Given the description of an element on the screen output the (x, y) to click on. 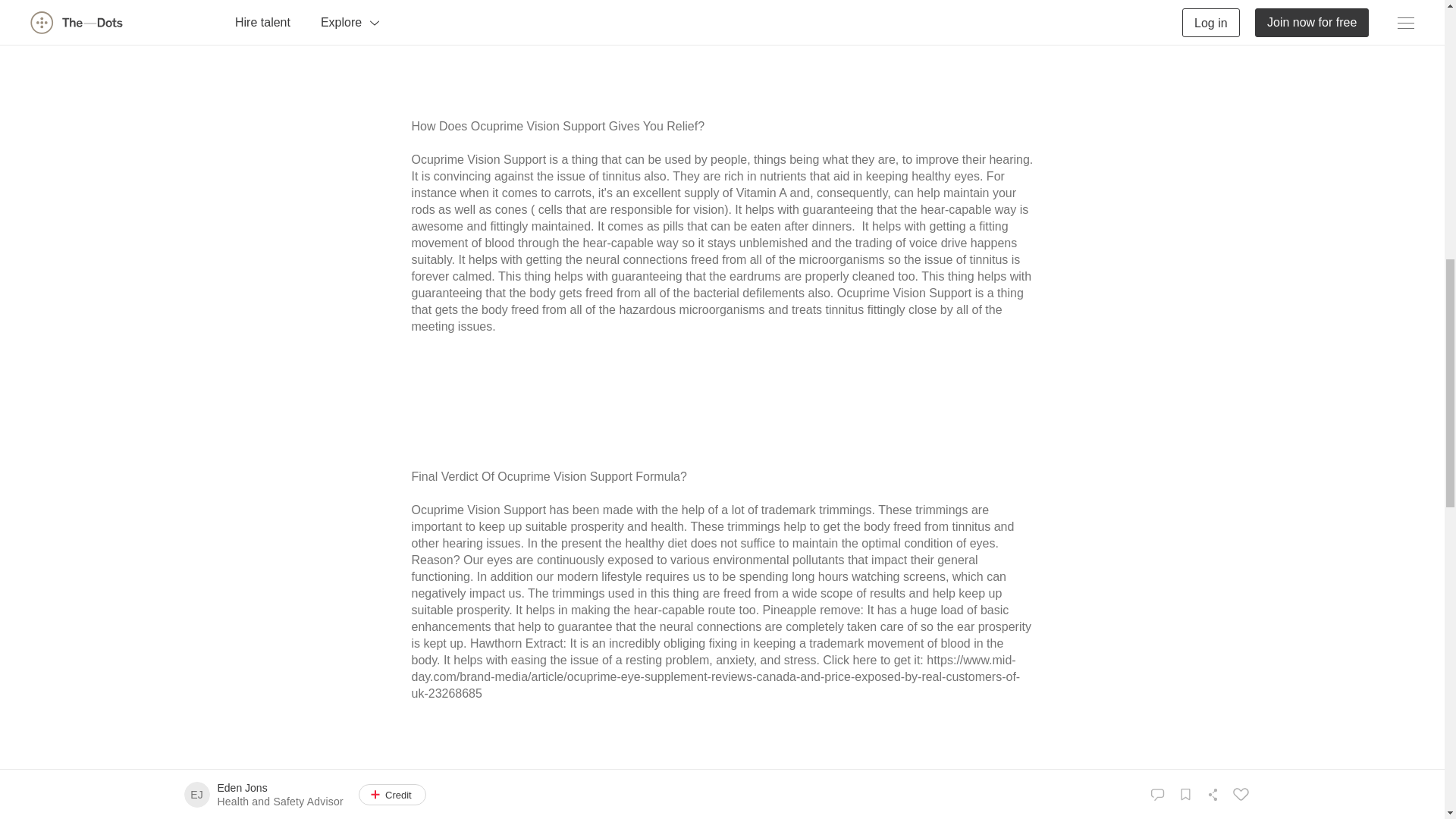
Report (425, 783)
